Given the description of an element on the screen output the (x, y) to click on. 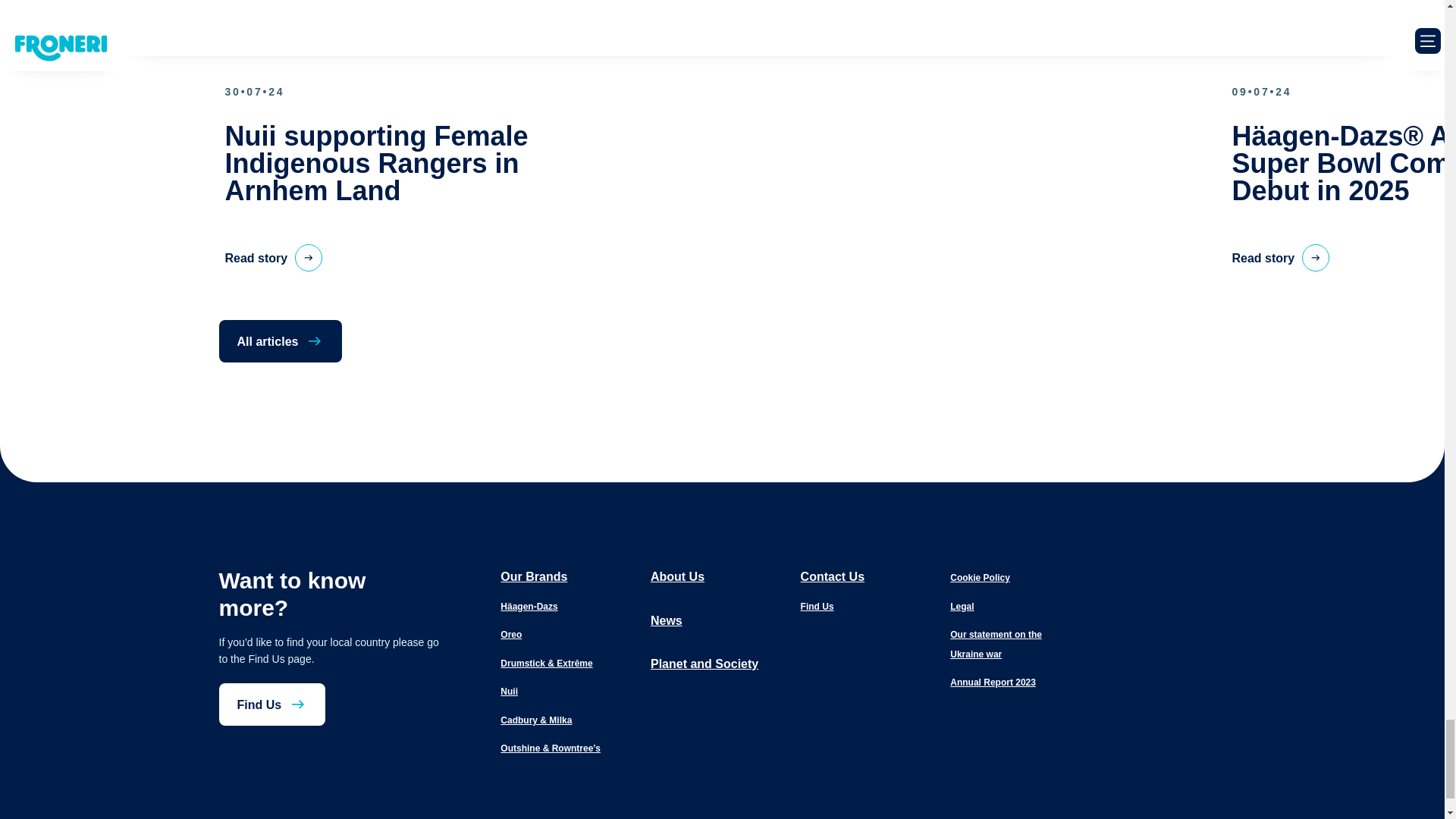
Read story (272, 257)
Read story (1280, 257)
